Given the description of an element on the screen output the (x, y) to click on. 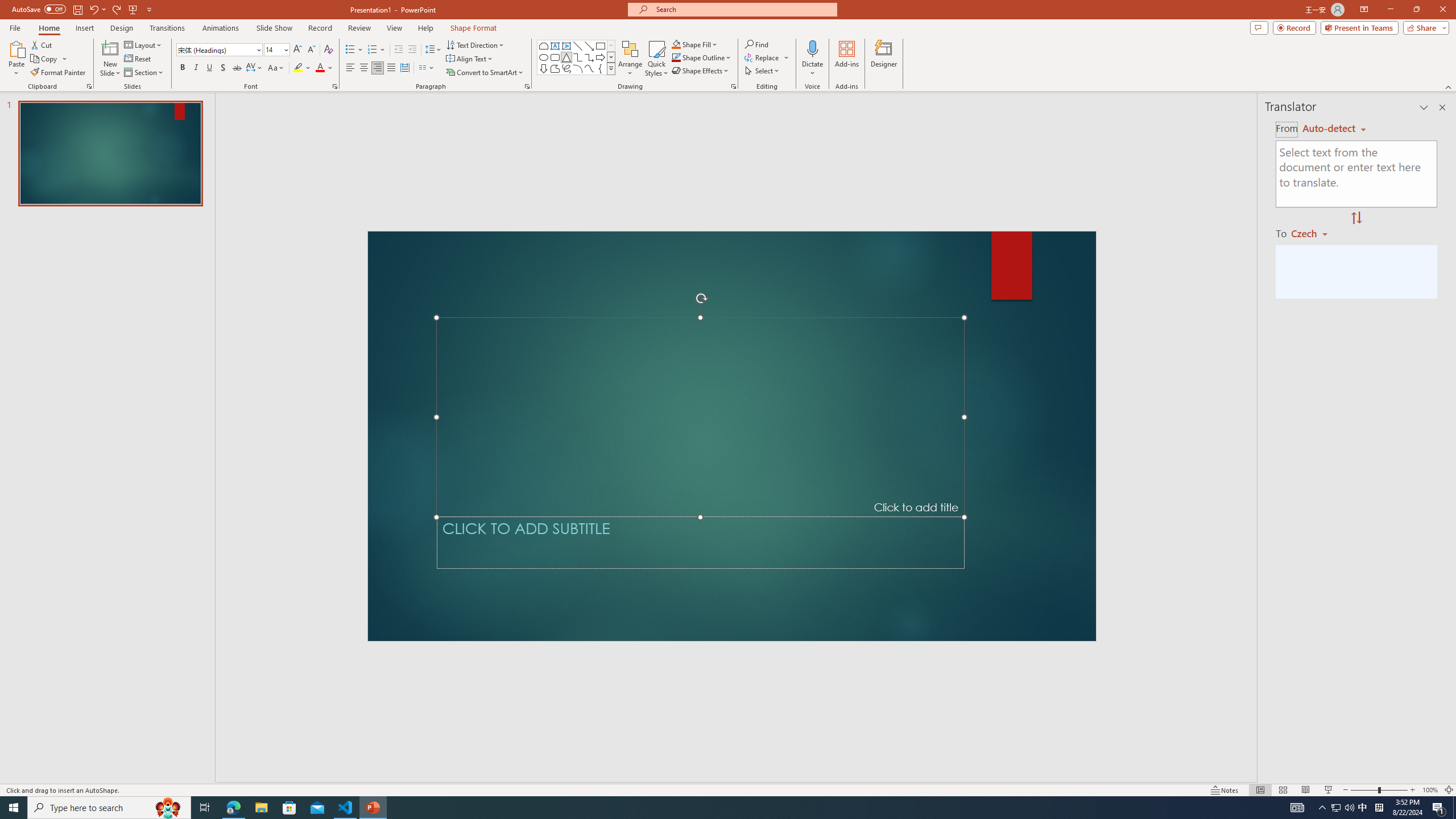
Swap "from" and "to" languages. (1355, 218)
